Given the description of an element on the screen output the (x, y) to click on. 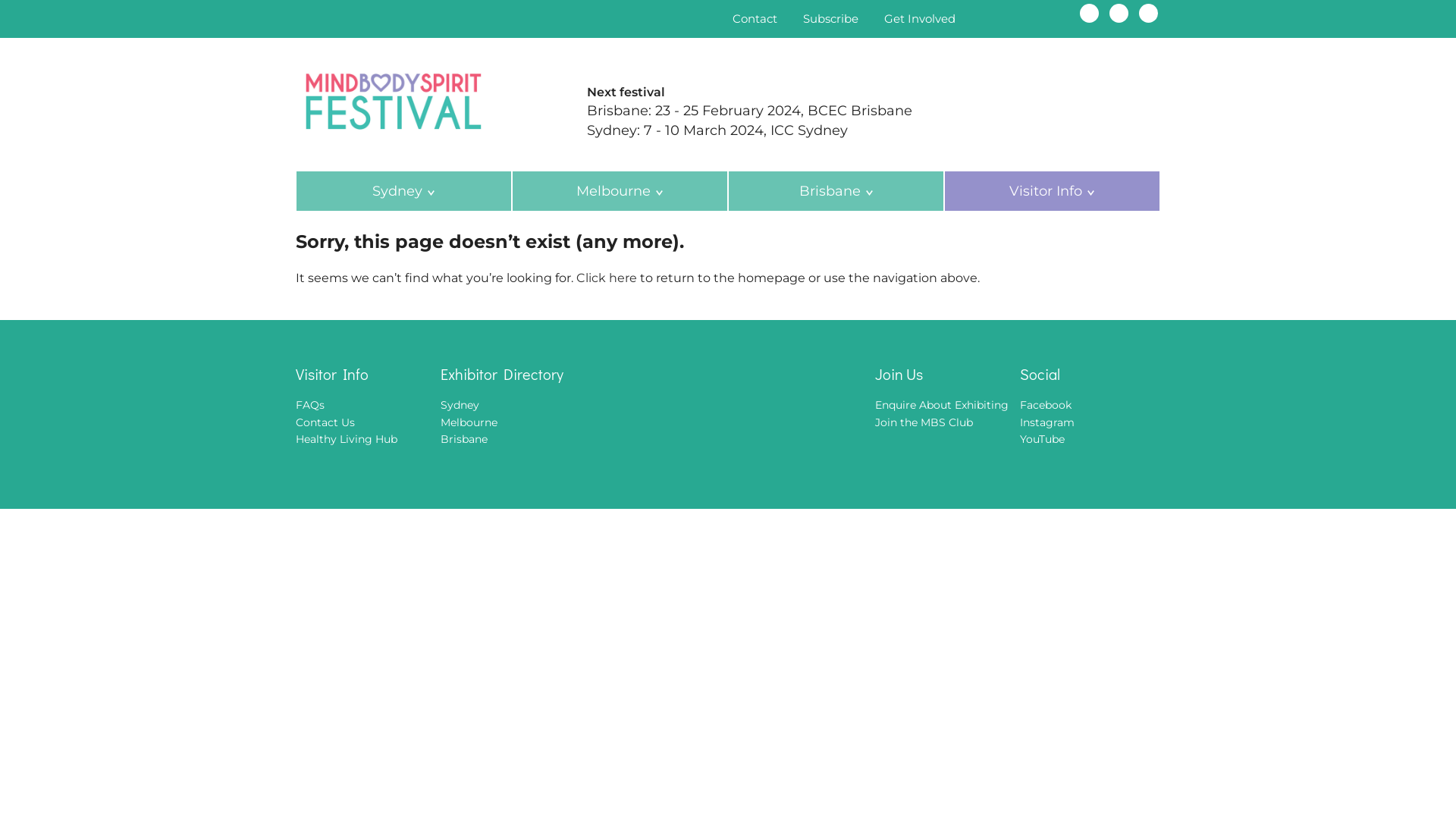
Instagram Element type: text (1046, 422)
Contact Element type: text (754, 18)
Enquire About Exhibiting Element type: text (941, 404)
Melbourne Element type: text (619, 190)
Brisbane Element type: text (463, 438)
Facebook Element type: text (1088, 12)
Subscribe Element type: text (830, 18)
Join the MBS Club Element type: text (923, 422)
Melbourne Element type: text (468, 422)
Instagram Element type: text (1118, 12)
Join Us Element type: text (945, 374)
Exhibitor Directory Element type: text (528, 374)
FAQs Element type: text (309, 404)
YouTube Element type: text (1148, 12)
Contact Us Element type: text (324, 422)
Brisbane Element type: text (835, 190)
Healthy Living Hub Element type: text (346, 438)
Visitor Info Element type: text (365, 374)
Get Involved Element type: text (919, 18)
Sydney Element type: text (403, 190)
Social Element type: text (1089, 374)
Visitor Info Element type: text (1051, 190)
Click here Element type: text (606, 277)
Facebook Element type: text (1045, 404)
Sydney Element type: text (459, 404)
YouTube Element type: text (1041, 438)
